Given the description of an element on the screen output the (x, y) to click on. 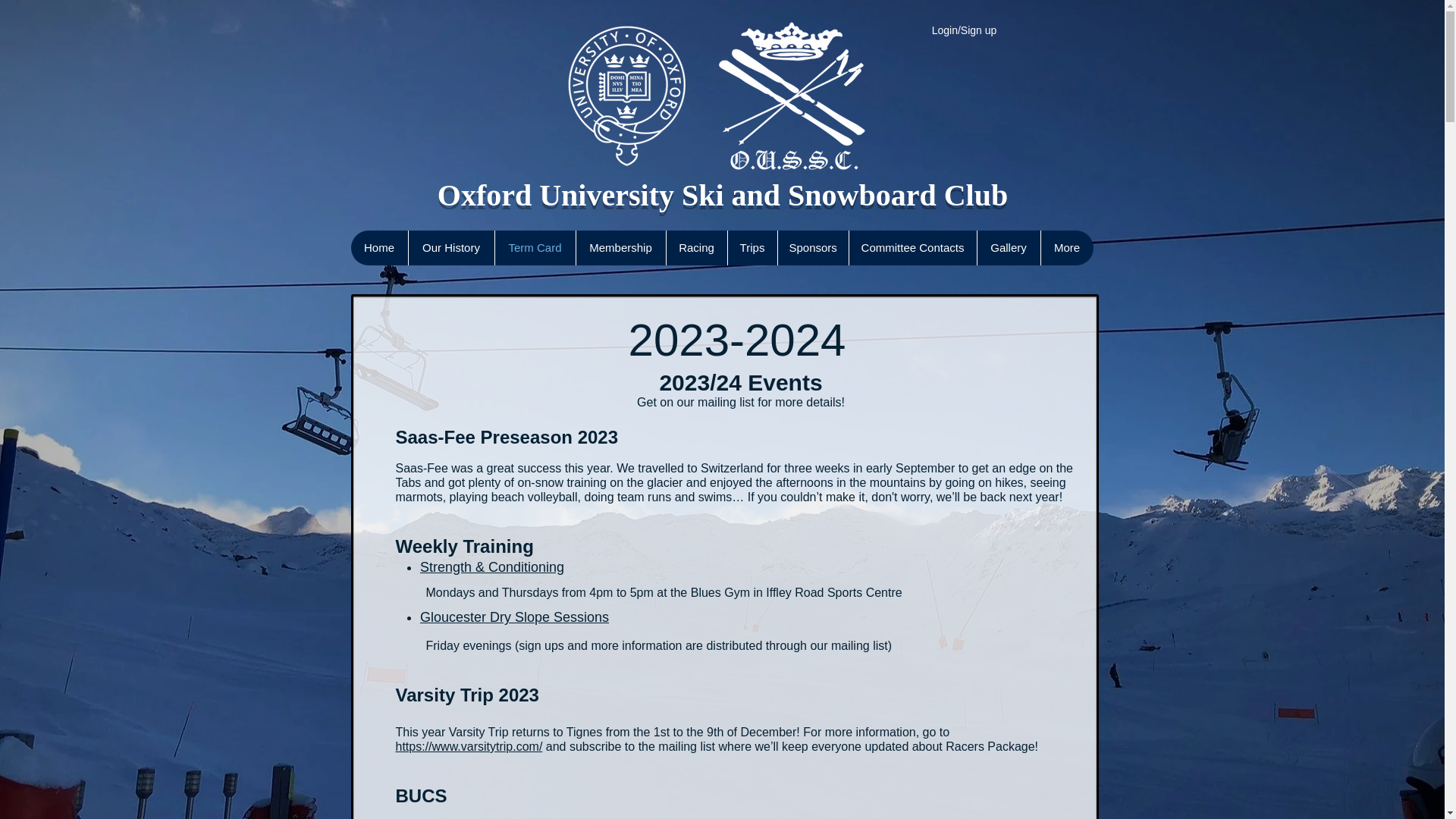
Sponsors (811, 247)
Membership (620, 247)
Home (378, 247)
Our History (451, 247)
Gallery (1008, 247)
Committee Contacts (911, 247)
Racing (695, 247)
OUSSC.png (718, 95)
Term Card (535, 247)
